Given the description of an element on the screen output the (x, y) to click on. 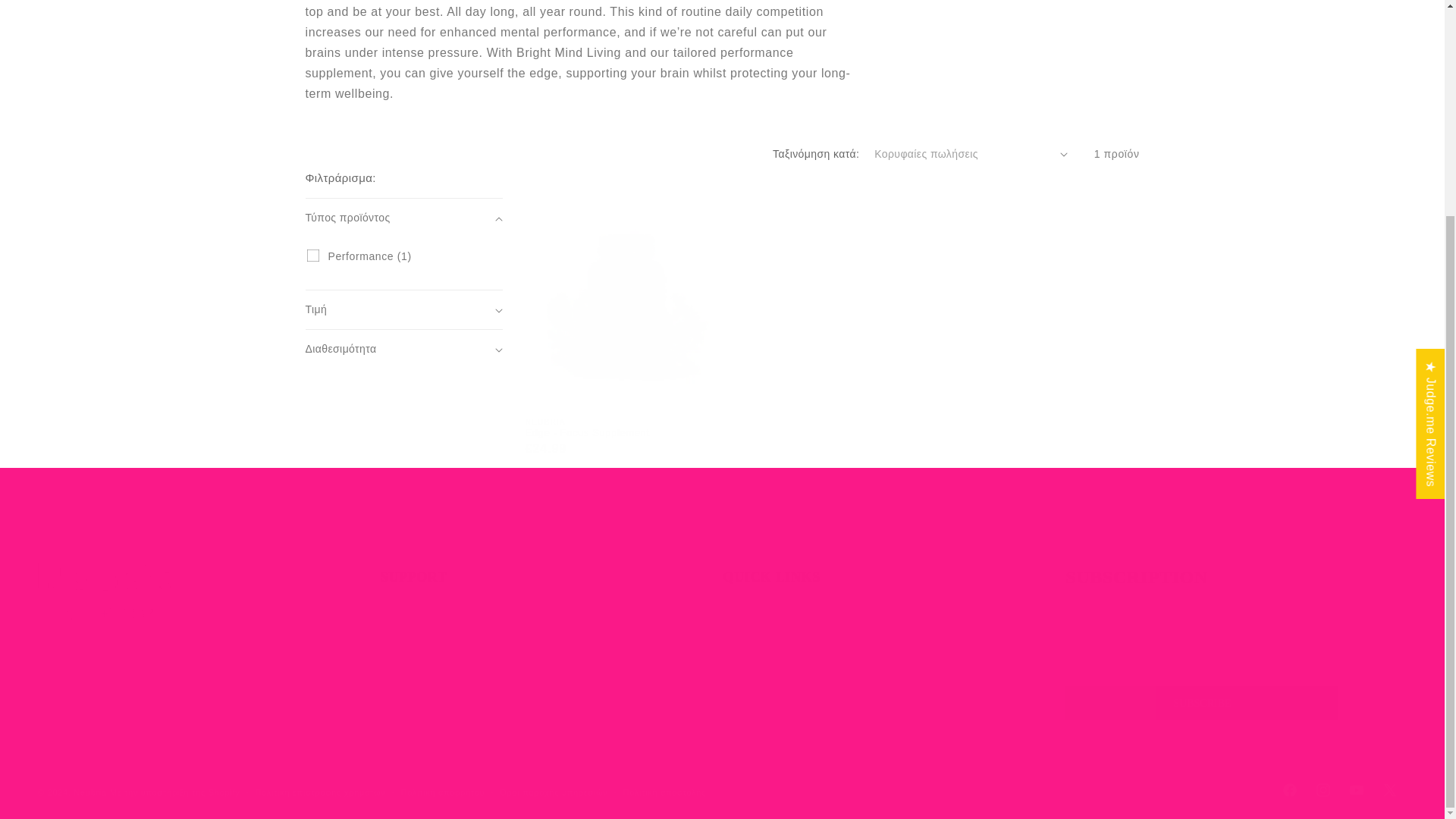
Performance (311, 255)
